Given the description of an element on the screen output the (x, y) to click on. 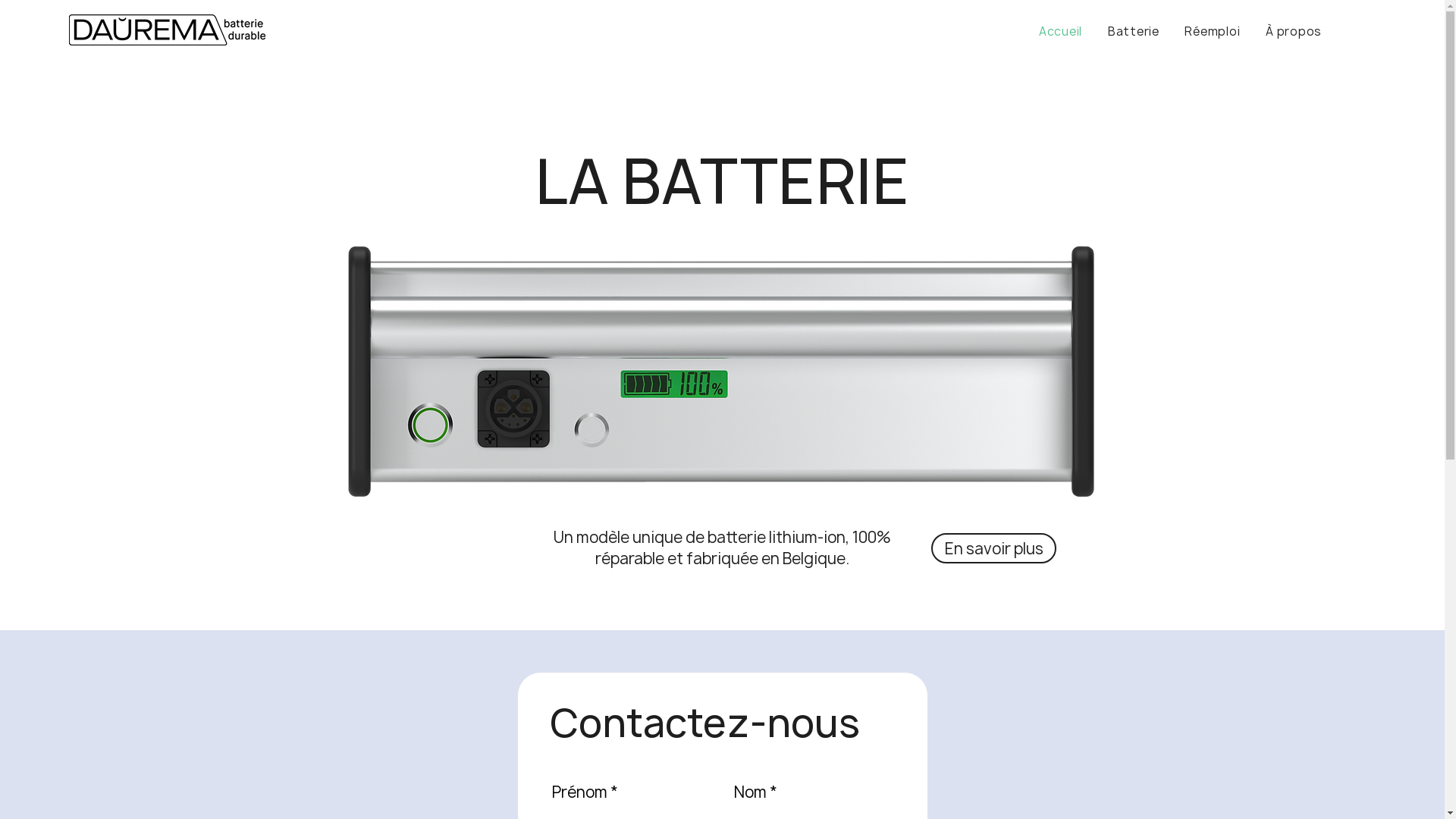
Accueil Element type: text (1060, 31)
Batterie Element type: text (1133, 31)
En savoir plus Element type: text (993, 548)
